Given the description of an element on the screen output the (x, y) to click on. 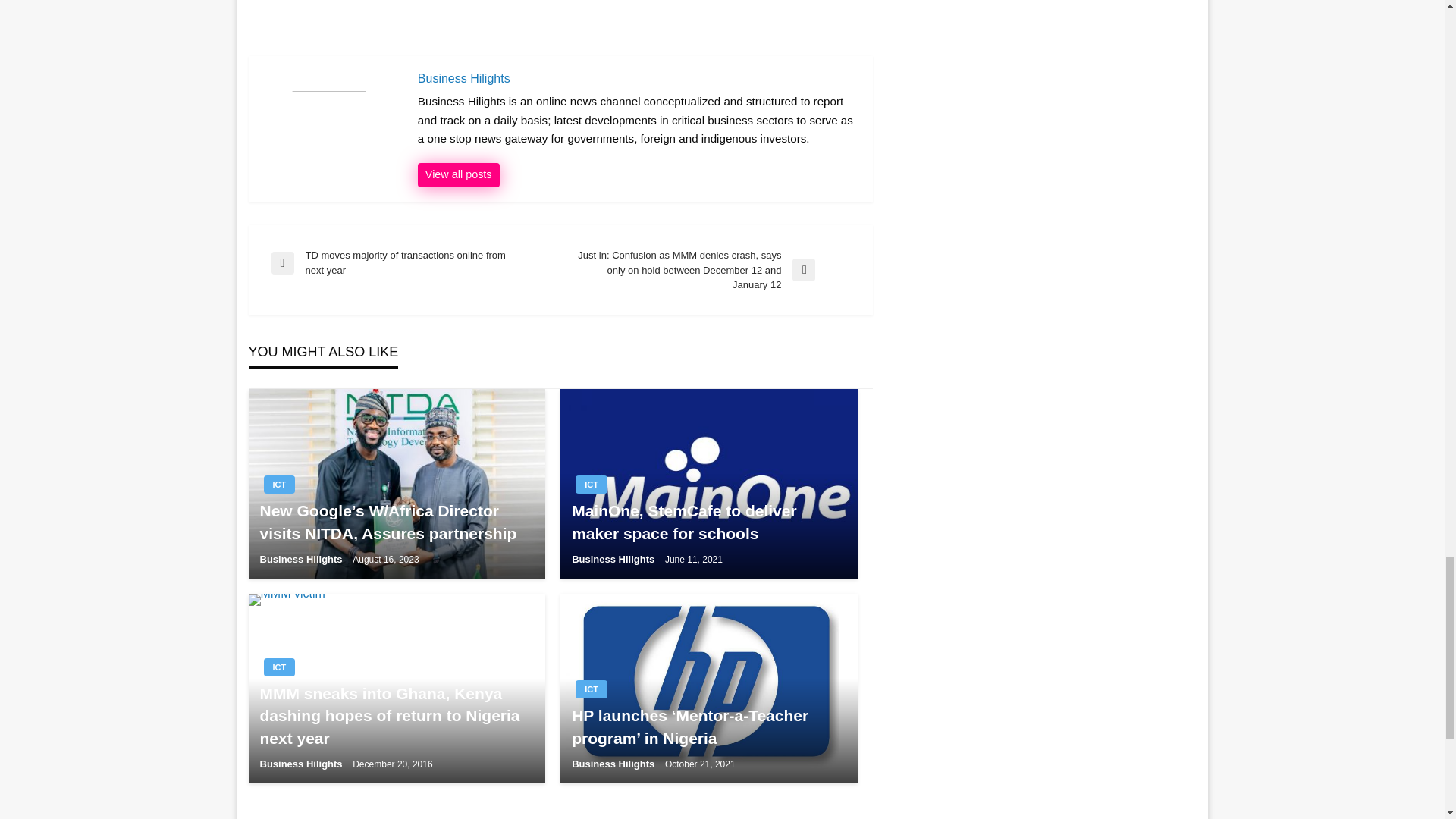
View all posts (458, 174)
Business Hilights (302, 559)
Business Hilights (637, 78)
Business Hilights (637, 78)
ICT (279, 484)
Business Hilights (458, 174)
